Given the description of an element on the screen output the (x, y) to click on. 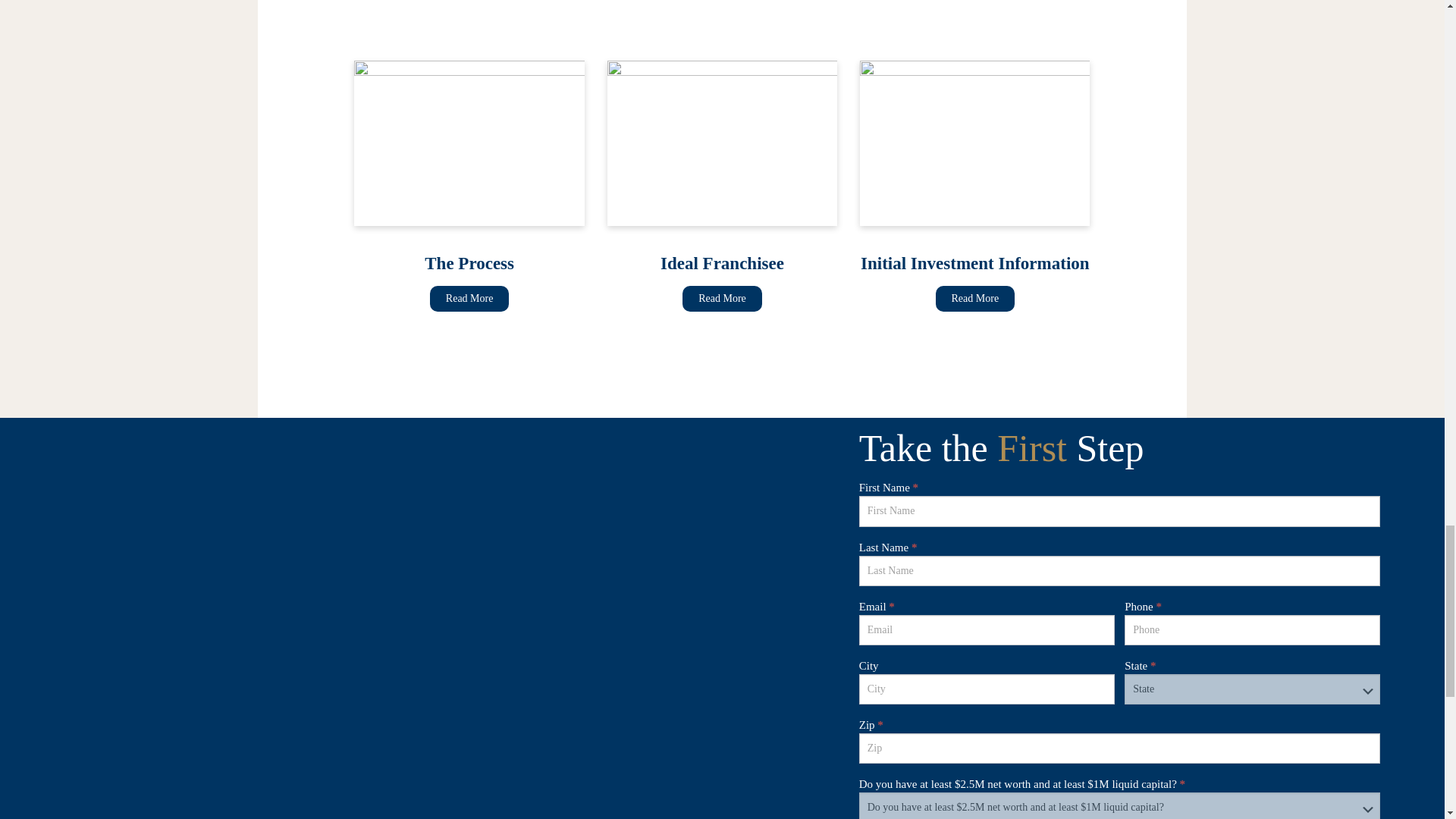
Read More (721, 298)
Read More (469, 298)
Ideal Franchisee (721, 298)
Read More (975, 298)
